Given the description of an element on the screen output the (x, y) to click on. 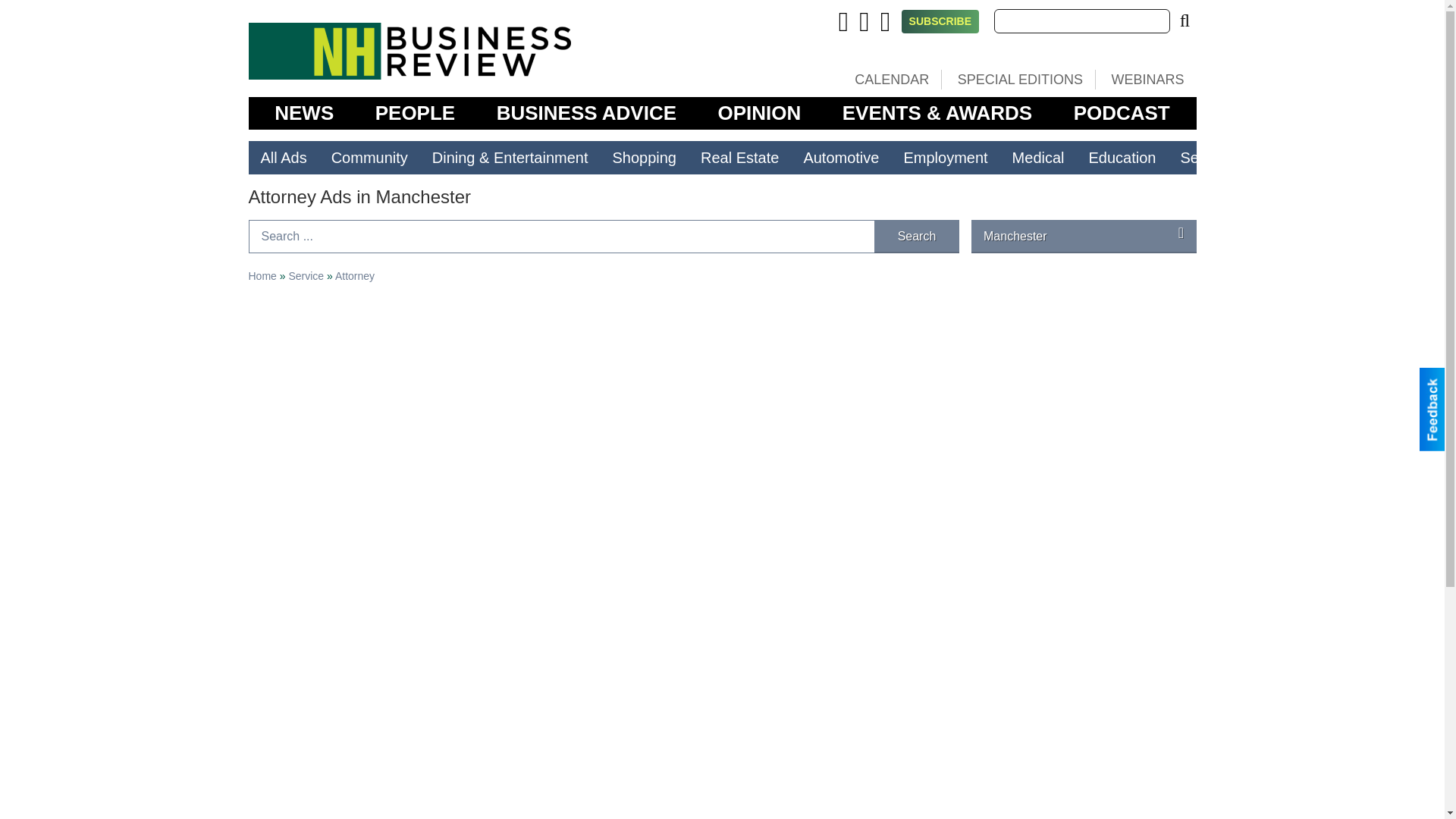
Community  Ads in New Hampshire (369, 157)
BUSINESS ADVICE (586, 113)
SPECIAL EDITIONS (1019, 79)
CALENDAR (891, 79)
NEWS (304, 113)
PEOPLE (415, 113)
Shopping Ads in New Hampshire (643, 157)
WEBINARS (1147, 79)
SUBSCRIBE (939, 21)
PODCAST (1121, 113)
OPINION (759, 113)
